Given the description of an element on the screen output the (x, y) to click on. 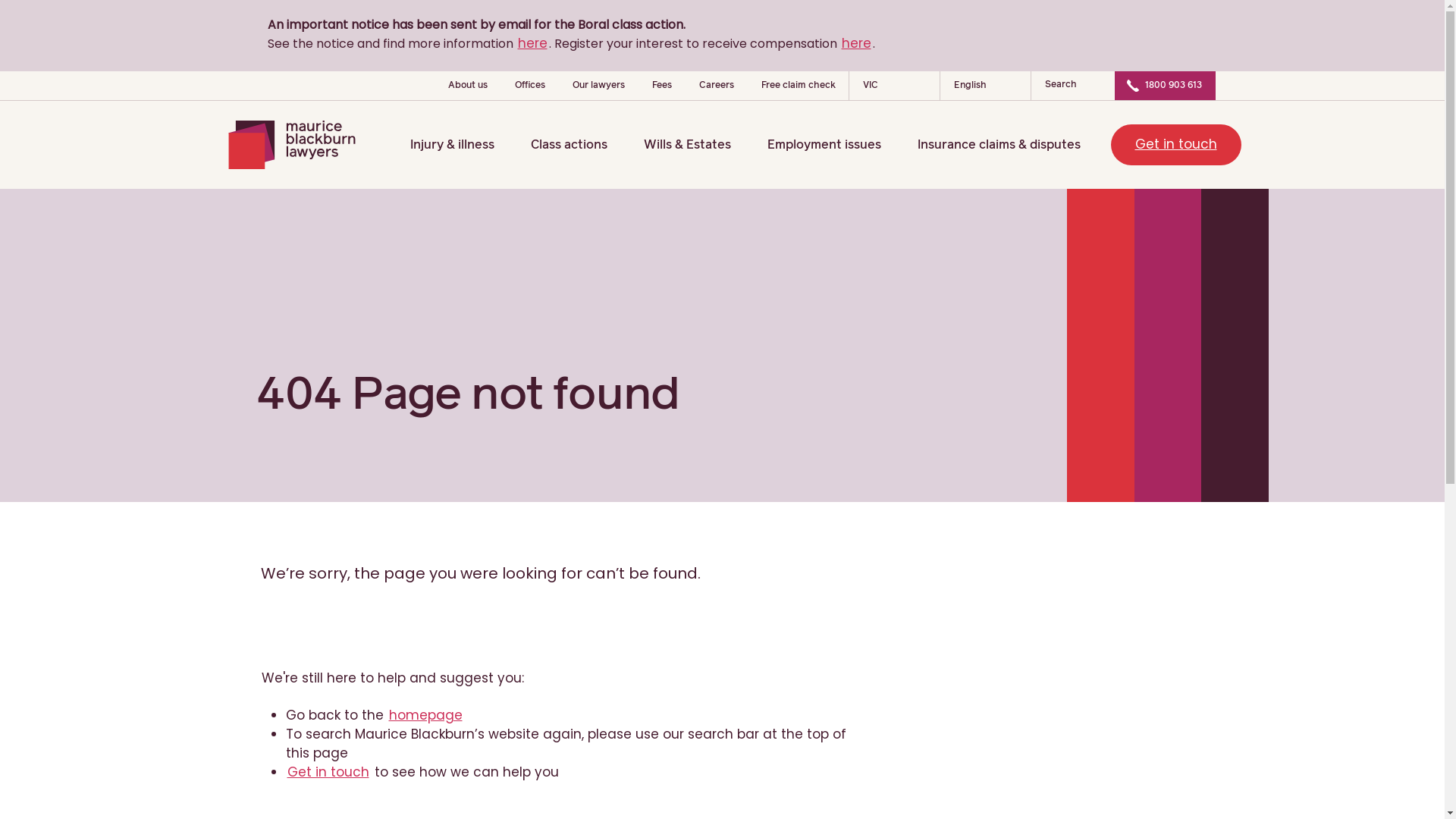
About us Element type: text (466, 85)
Employment issues Element type: text (836, 144)
Search Element type: text (1072, 85)
Insurance claims & disputes Element type: text (1010, 144)
here Element type: text (856, 42)
Get in touch Element type: text (327, 771)
Fees Element type: text (661, 85)
Our lawyers Element type: text (597, 85)
Careers Element type: text (716, 85)
Class actions Element type: text (580, 144)
homepage Element type: text (424, 714)
Get in touch Element type: text (1175, 144)
Offices Element type: text (529, 85)
Injury & illness Element type: text (463, 144)
here Element type: text (531, 42)
1800 903 613 Element type: text (1173, 85)
Free claim check Element type: text (798, 85)
Wills & Estates Element type: text (698, 144)
